Given the description of an element on the screen output the (x, y) to click on. 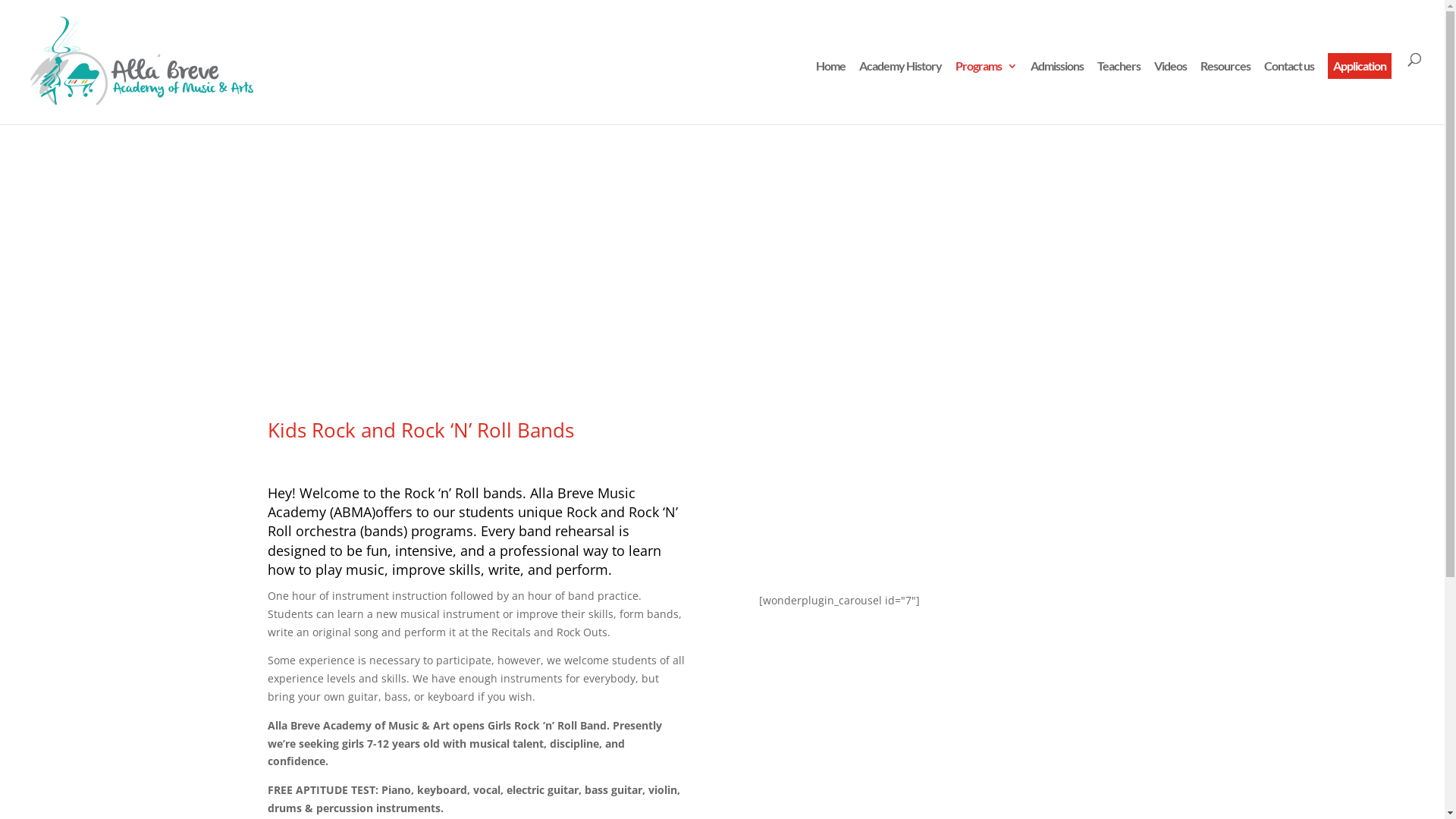
Programs Element type: text (985, 92)
Resources Element type: text (1225, 92)
Teachers Element type: text (1118, 92)
Contact us Element type: text (1289, 92)
Home Element type: text (830, 92)
Admissions Element type: text (1056, 92)
Academy History Element type: text (900, 92)
Application Element type: text (1359, 65)
Videos Element type: text (1170, 92)
